Given the description of an element on the screen output the (x, y) to click on. 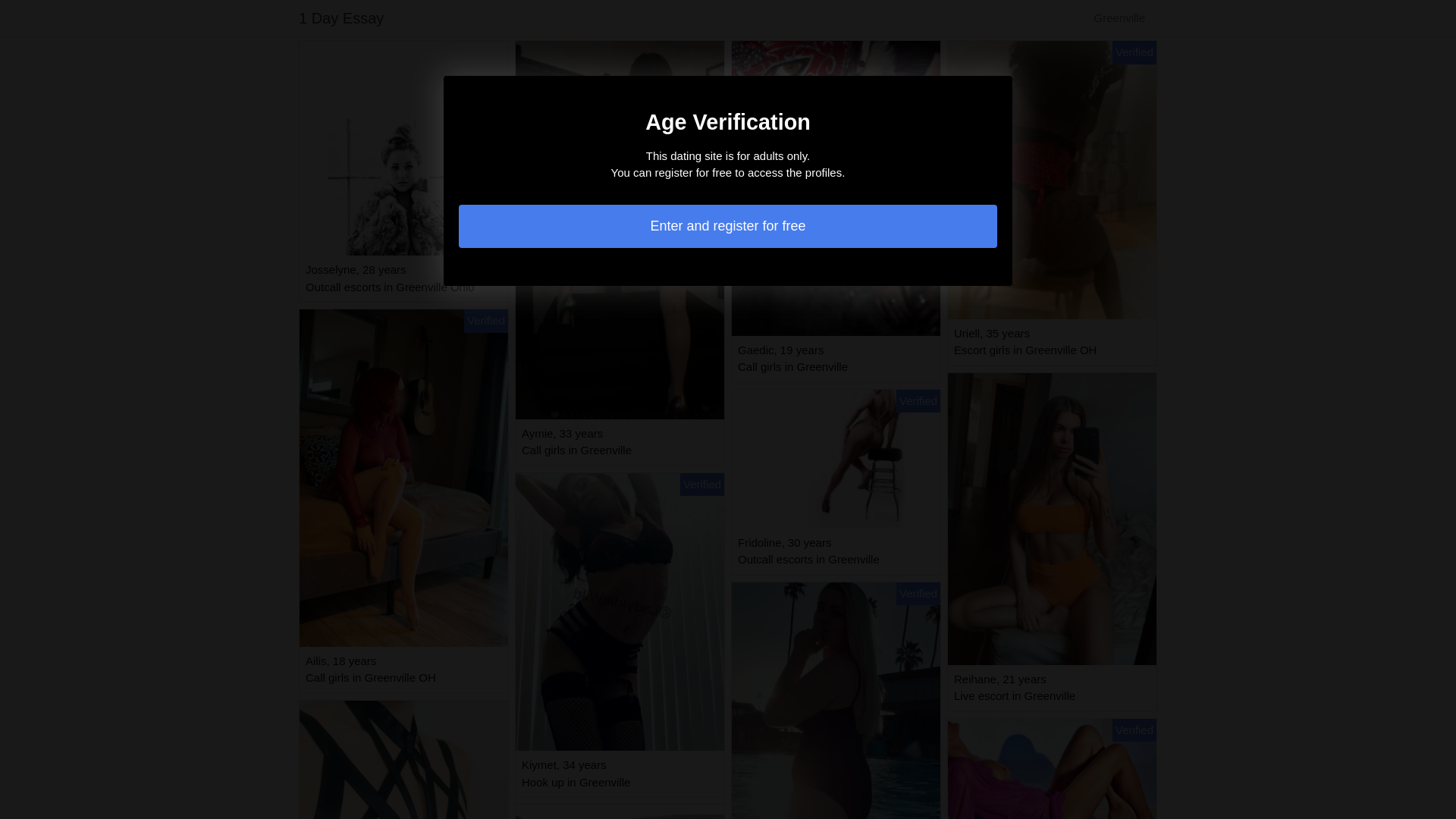
1 Day Essay Element type: text (340, 18)
Enter and register for free Element type: text (727, 225)
